Given the description of an element on the screen output the (x, y) to click on. 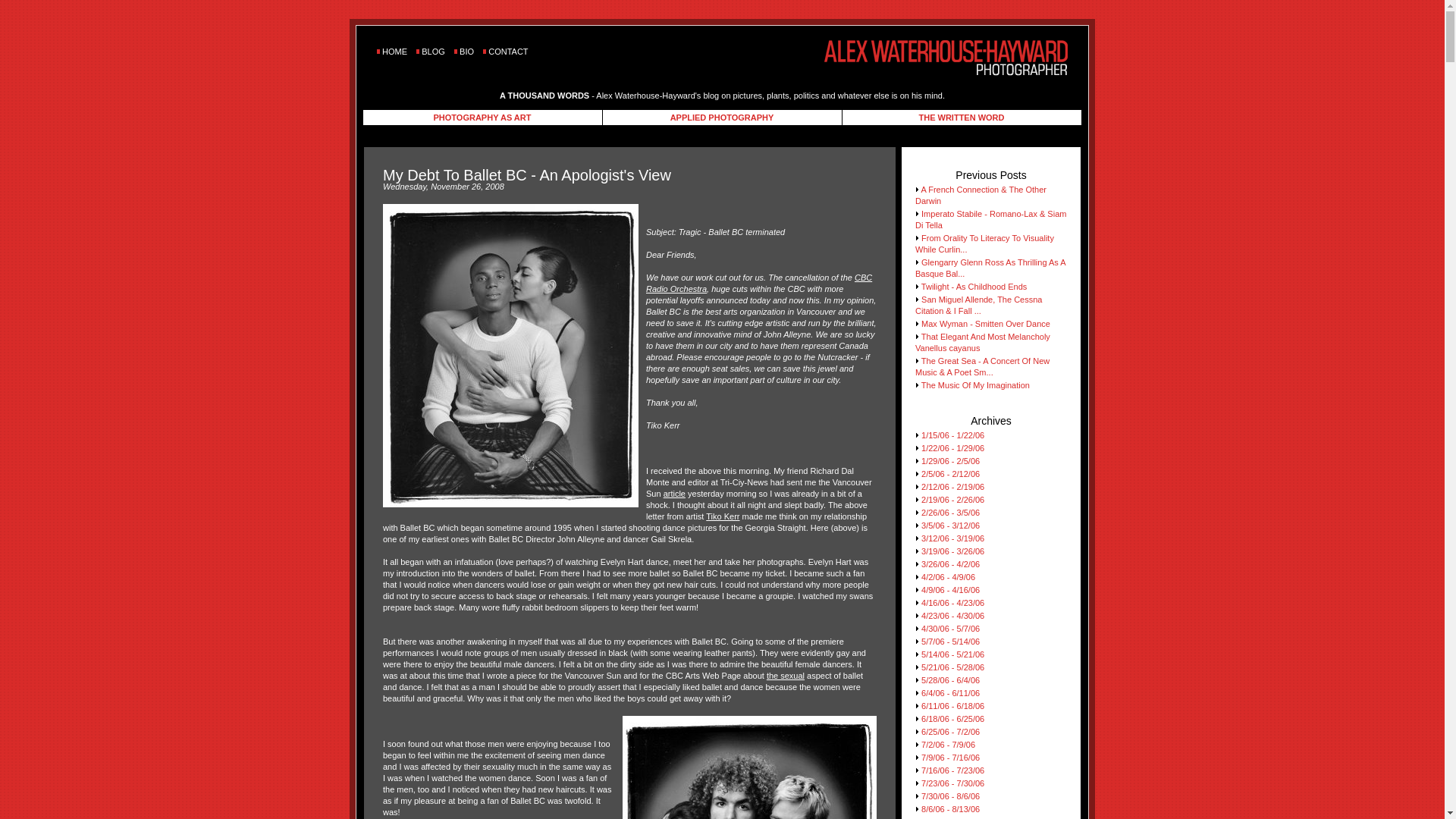
BLOG (433, 51)
CBC Radio Orchestra (759, 282)
article (674, 492)
BIO (467, 51)
Tiko Kerr (722, 515)
HOME (394, 51)
CONTACT (507, 51)
the sexual (786, 675)
